Given the description of an element on the screen output the (x, y) to click on. 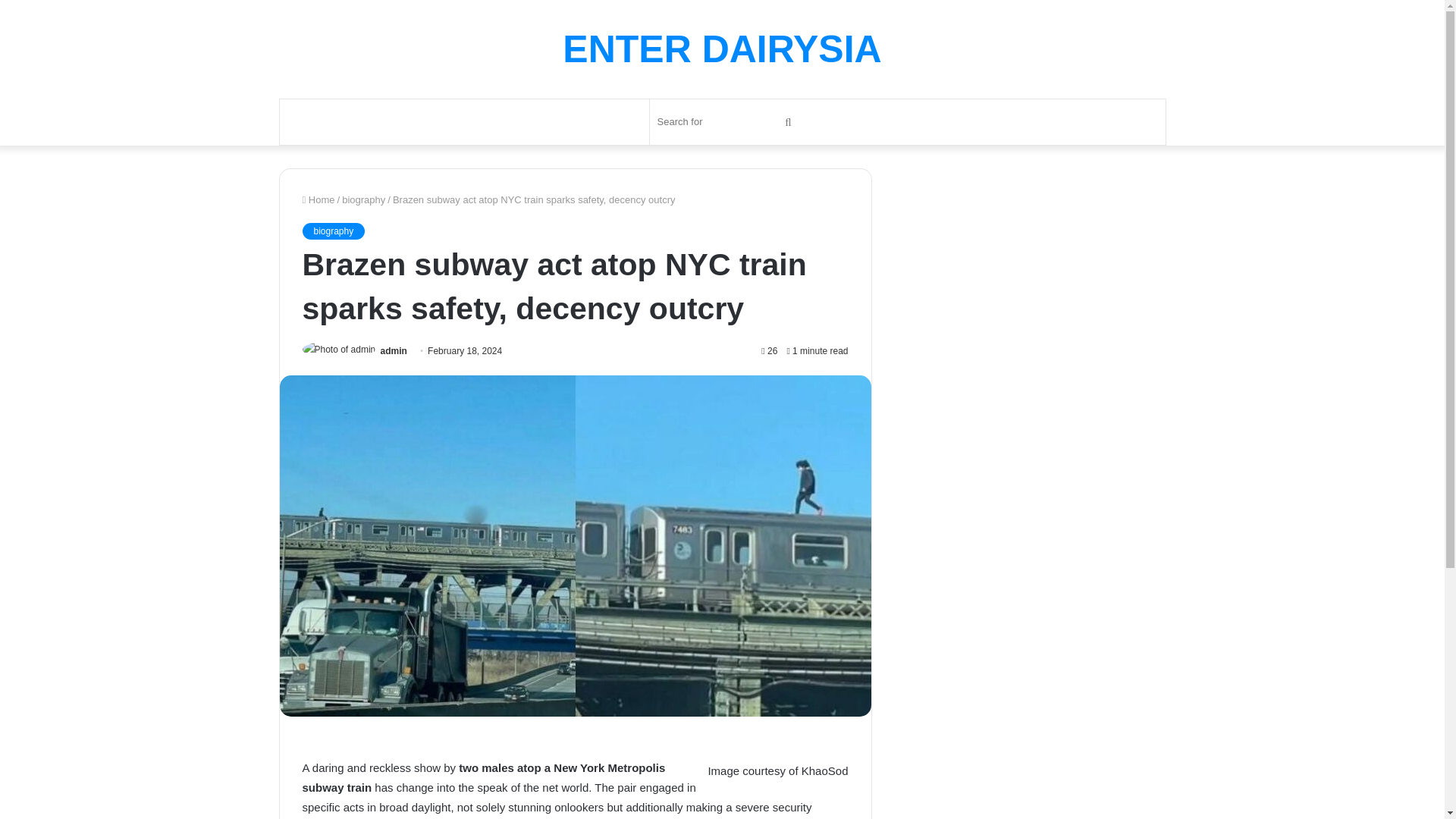
Search for (726, 121)
ENTER DAIRYSIA (721, 48)
biography (363, 199)
Home (317, 199)
admin (393, 350)
biography (333, 230)
admin (393, 350)
ENTER DAIRYSIA (721, 48)
